Given the description of an element on the screen output the (x, y) to click on. 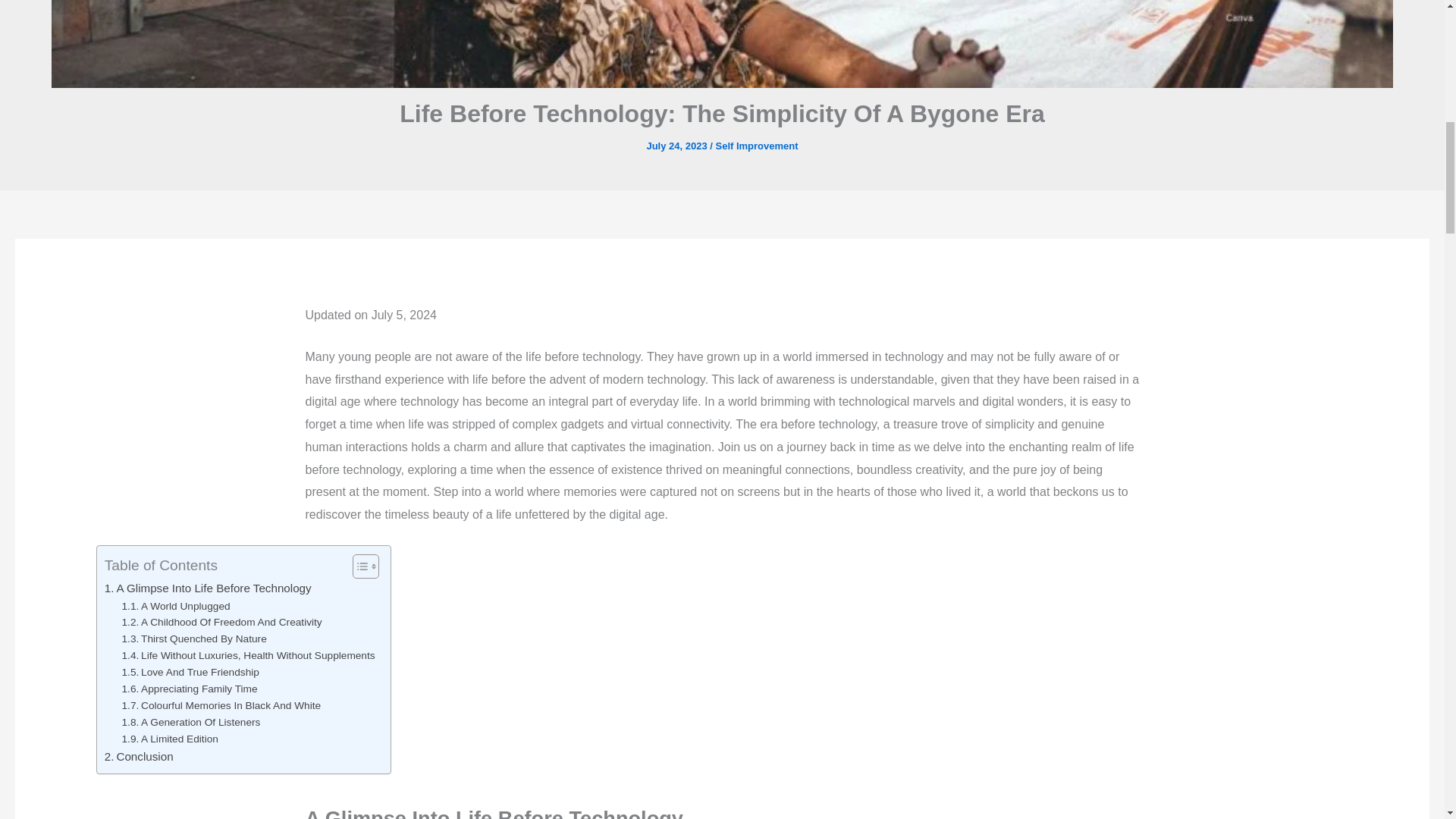
Love And True Friendship (190, 672)
Appreciating Family Time (189, 688)
Thirst Quenched By Nature (194, 638)
A Generation Of Listeners (191, 722)
Life Without Luxuries, Health Without Supplements (248, 655)
A Limited Edition (170, 739)
A Childhood Of Freedom And Creativity (221, 622)
Colourful Memories In Black And White (221, 705)
A World Unplugged (176, 606)
Conclusion (138, 756)
